Given the description of an element on the screen output the (x, y) to click on. 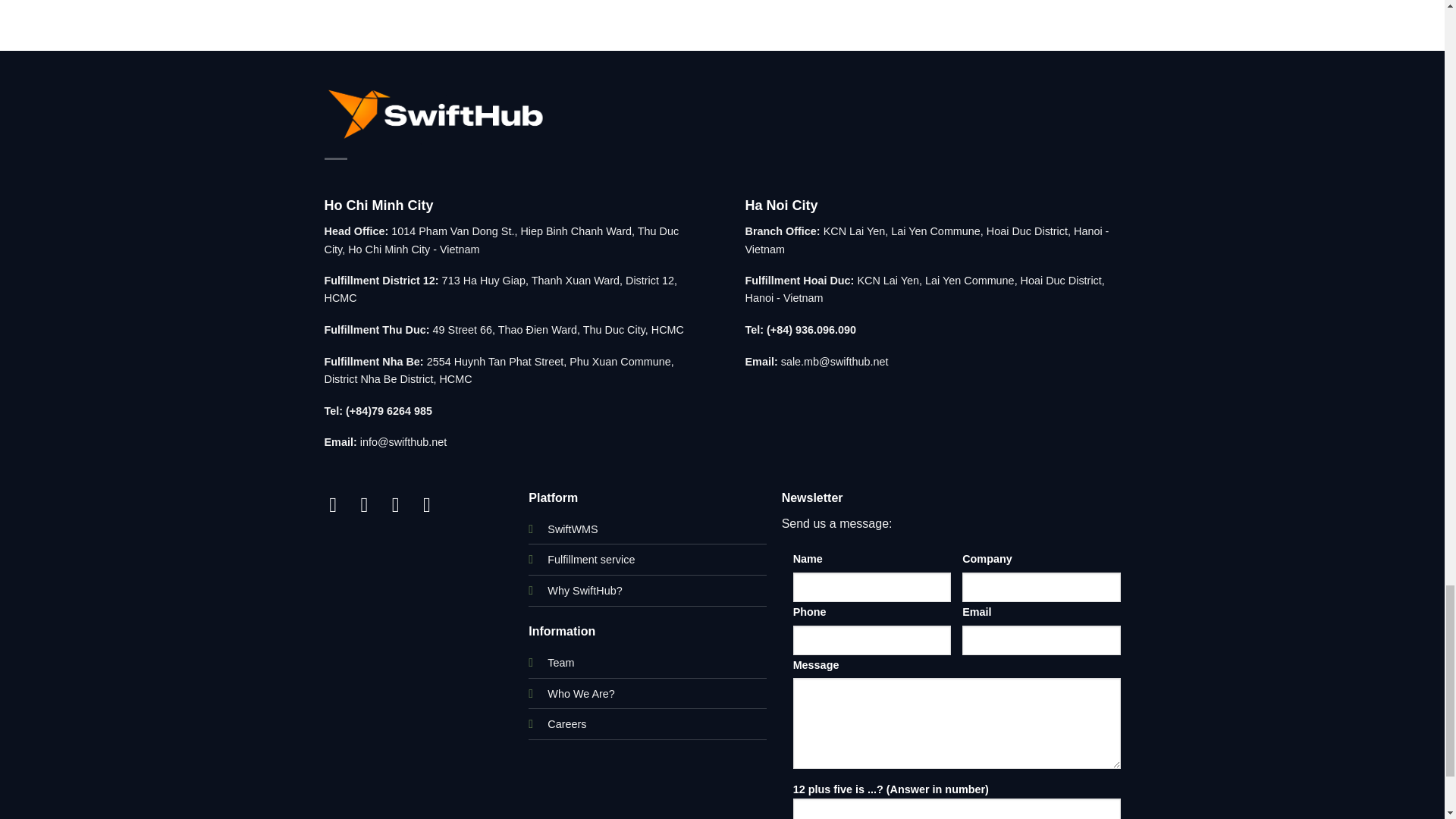
Fulfillment service (590, 559)
Why SwiftHub? (584, 590)
SwiftWMS (571, 529)
